Given the description of an element on the screen output the (x, y) to click on. 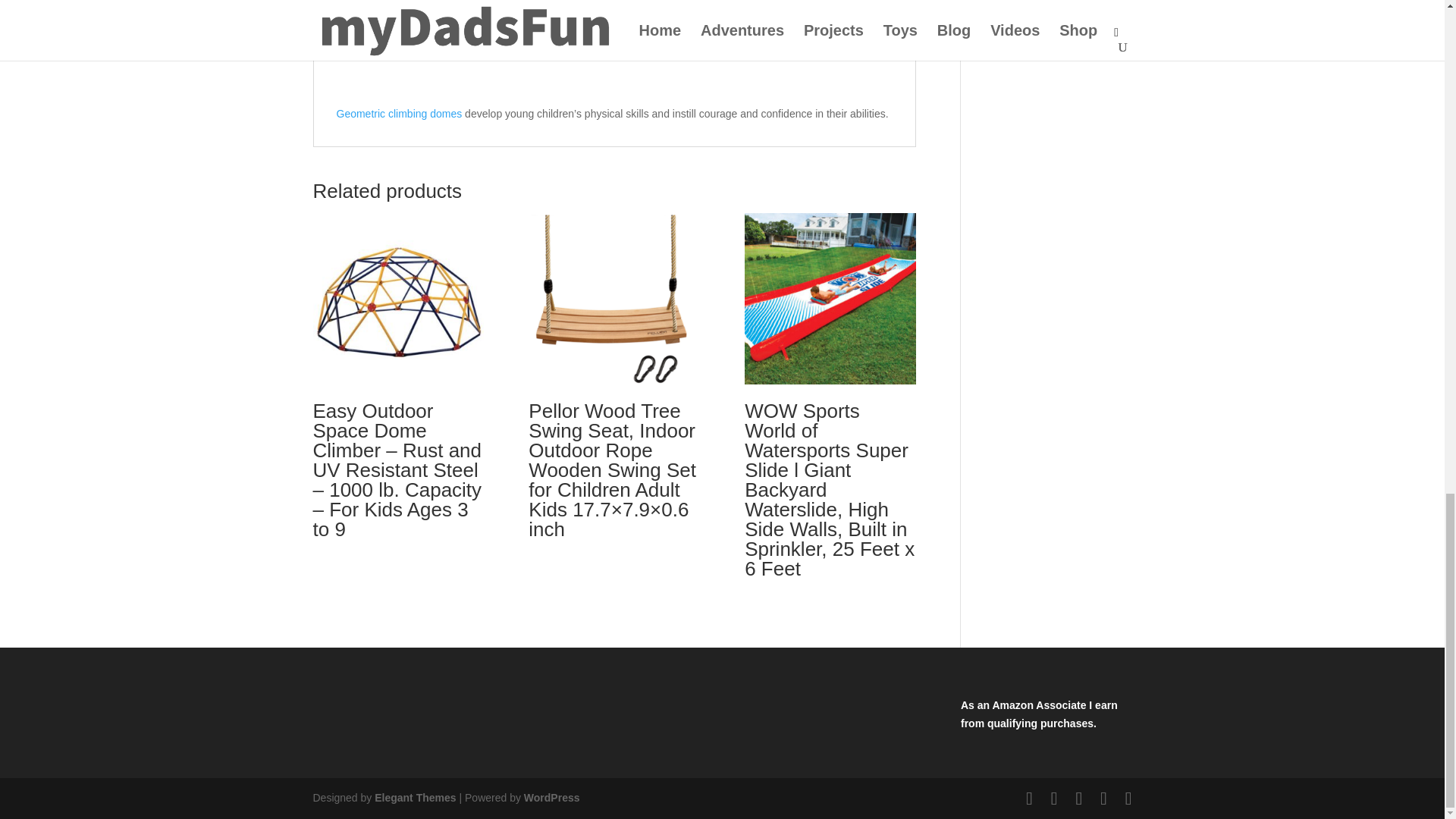
Premium WordPress Themes (414, 797)
